Given the description of an element on the screen output the (x, y) to click on. 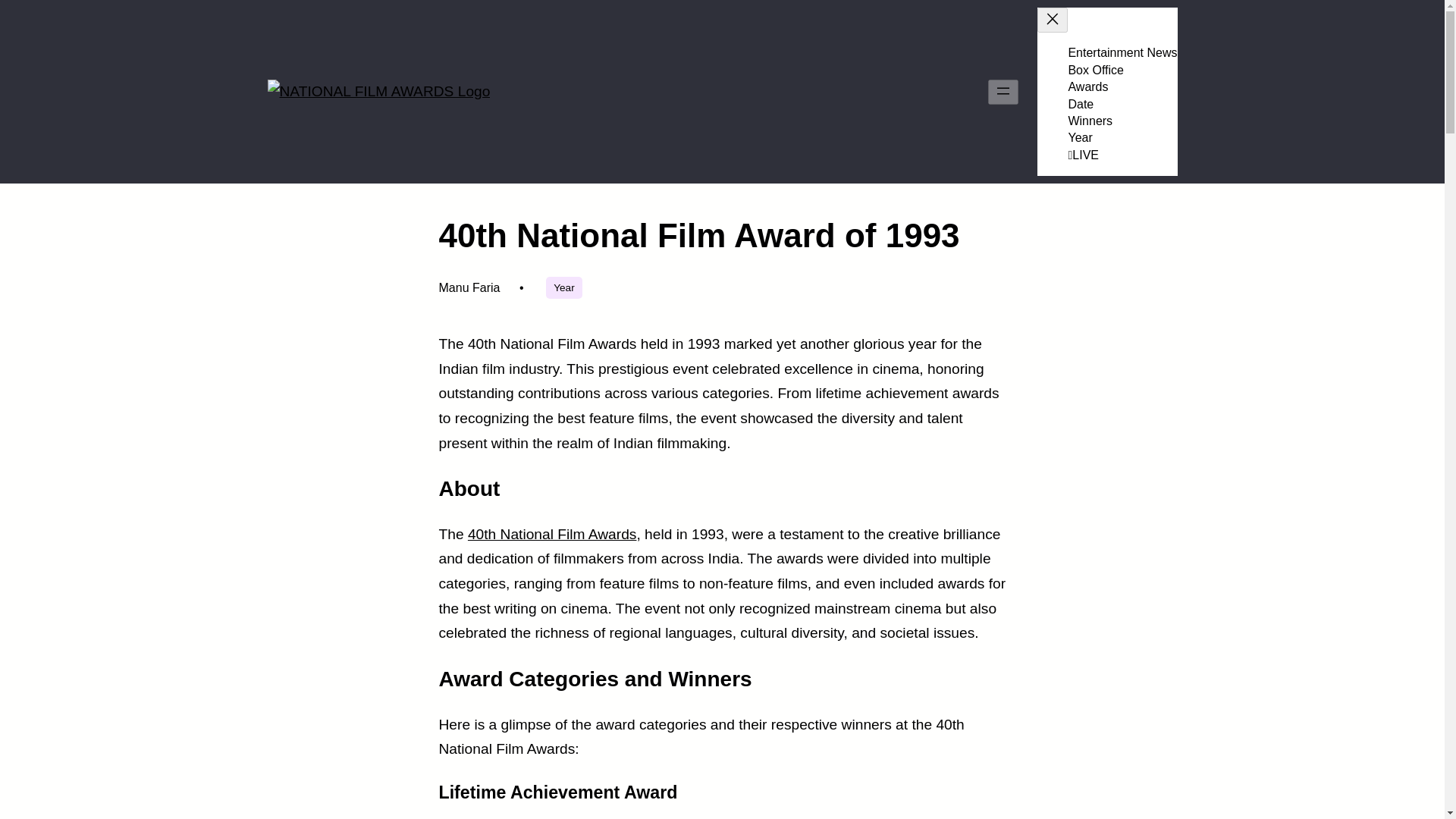
Winners (1089, 120)
Entertainment News (1121, 51)
Box Office (1095, 69)
Awards (1087, 86)
Year (563, 287)
Year (1079, 137)
40th National Film Awards (552, 534)
Date (1080, 103)
